Given the description of an element on the screen output the (x, y) to click on. 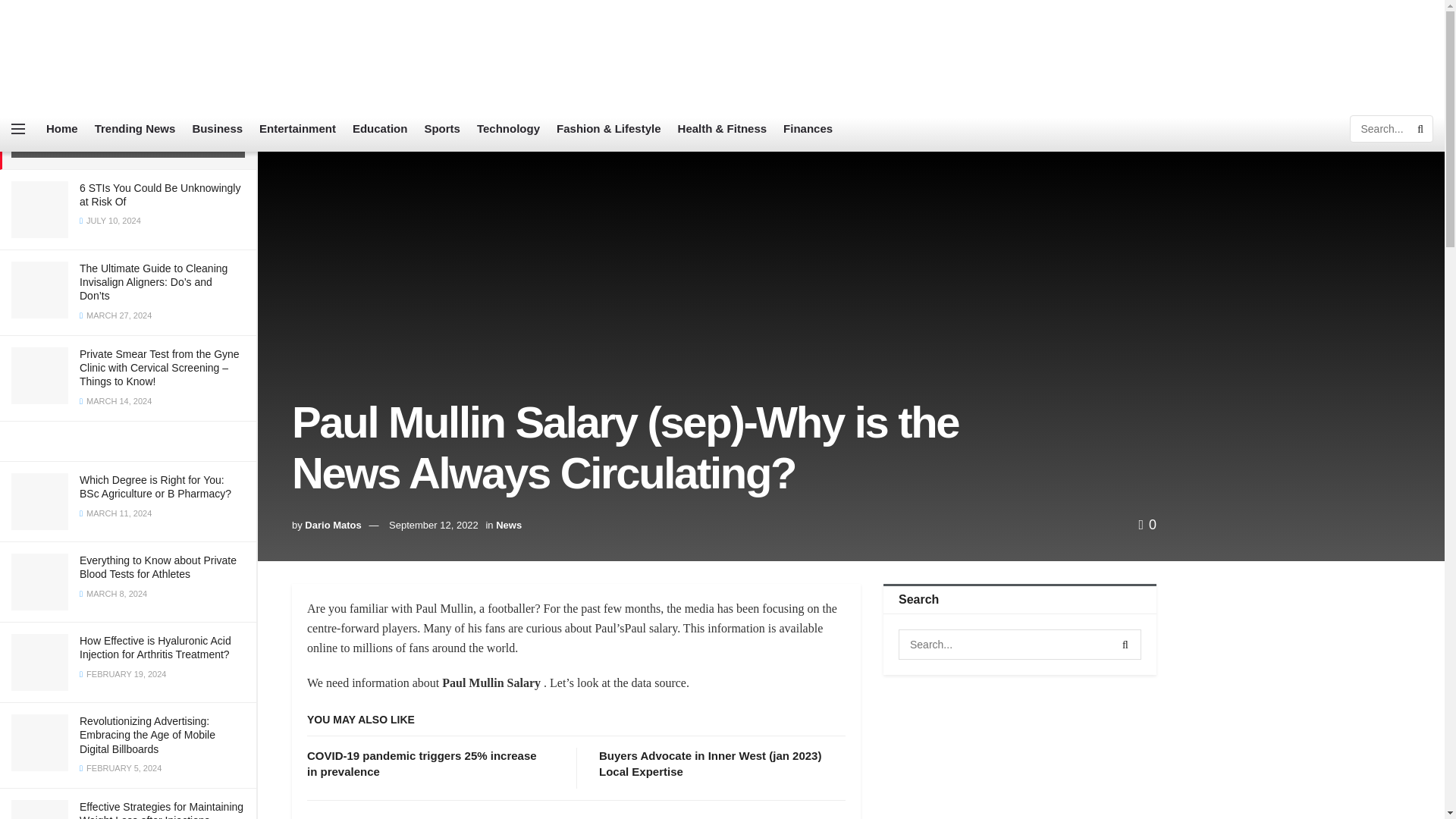
Entertainment (297, 128)
Finances (807, 128)
6 STIs You Could Be Unknowingly at Risk Of (160, 194)
Everything to Know about Private Blood Tests for Athletes (157, 566)
Trending News (135, 128)
Business (217, 128)
Education (379, 128)
Sports (441, 128)
Home (62, 128)
Technology (508, 128)
EditorialNet (118, 53)
